Given the description of an element on the screen output the (x, y) to click on. 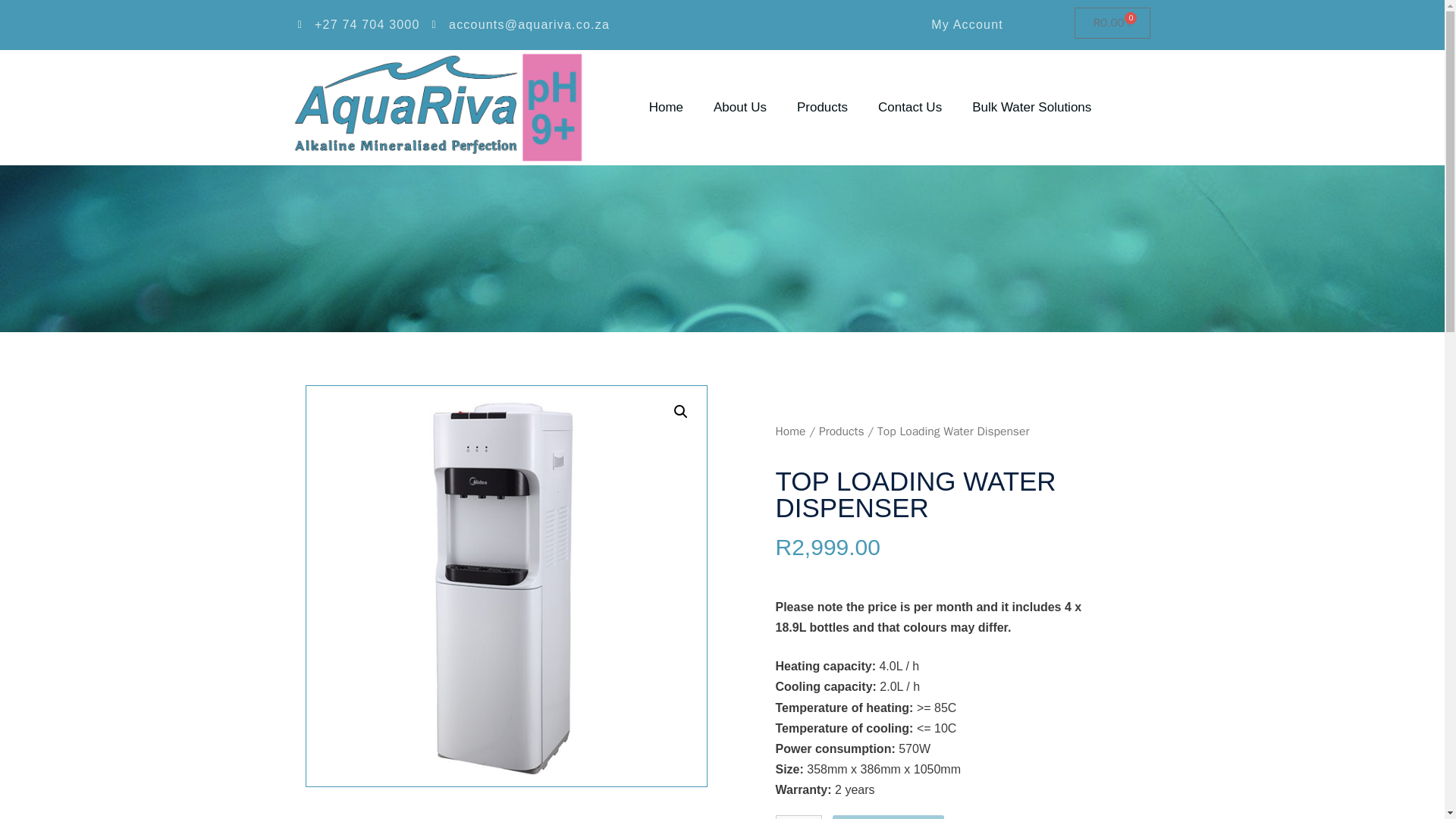
Add to basket (887, 816)
Home (665, 107)
About Us (739, 107)
Contact Us (909, 107)
Bulk Water Solutions (1031, 107)
1 (798, 816)
Products (841, 431)
My Account (966, 24)
Products (822, 107)
Home (789, 431)
